Given the description of an element on the screen output the (x, y) to click on. 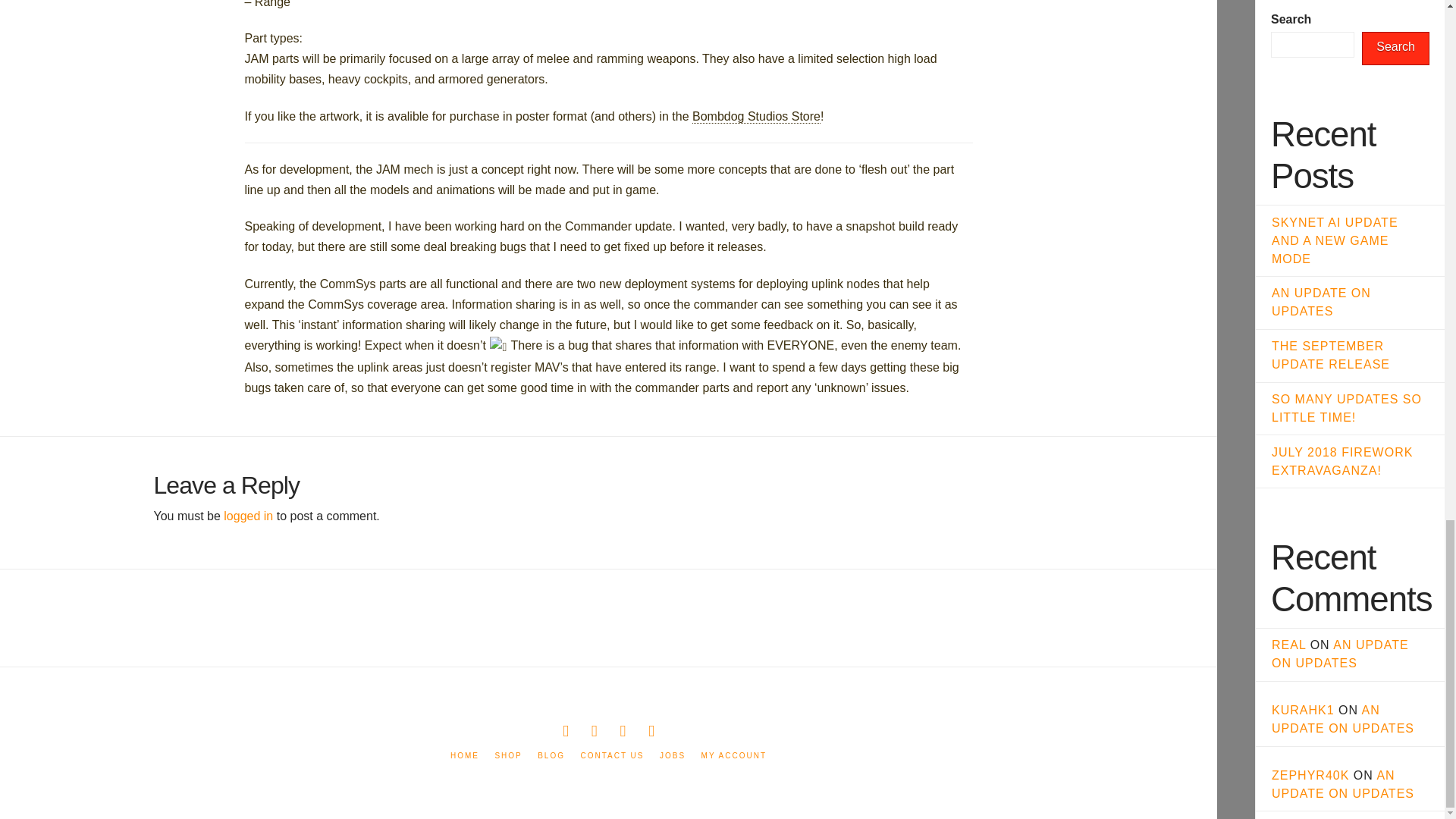
Bombdog Studios Store (757, 116)
logged in (248, 515)
